Given the description of an element on the screen output the (x, y) to click on. 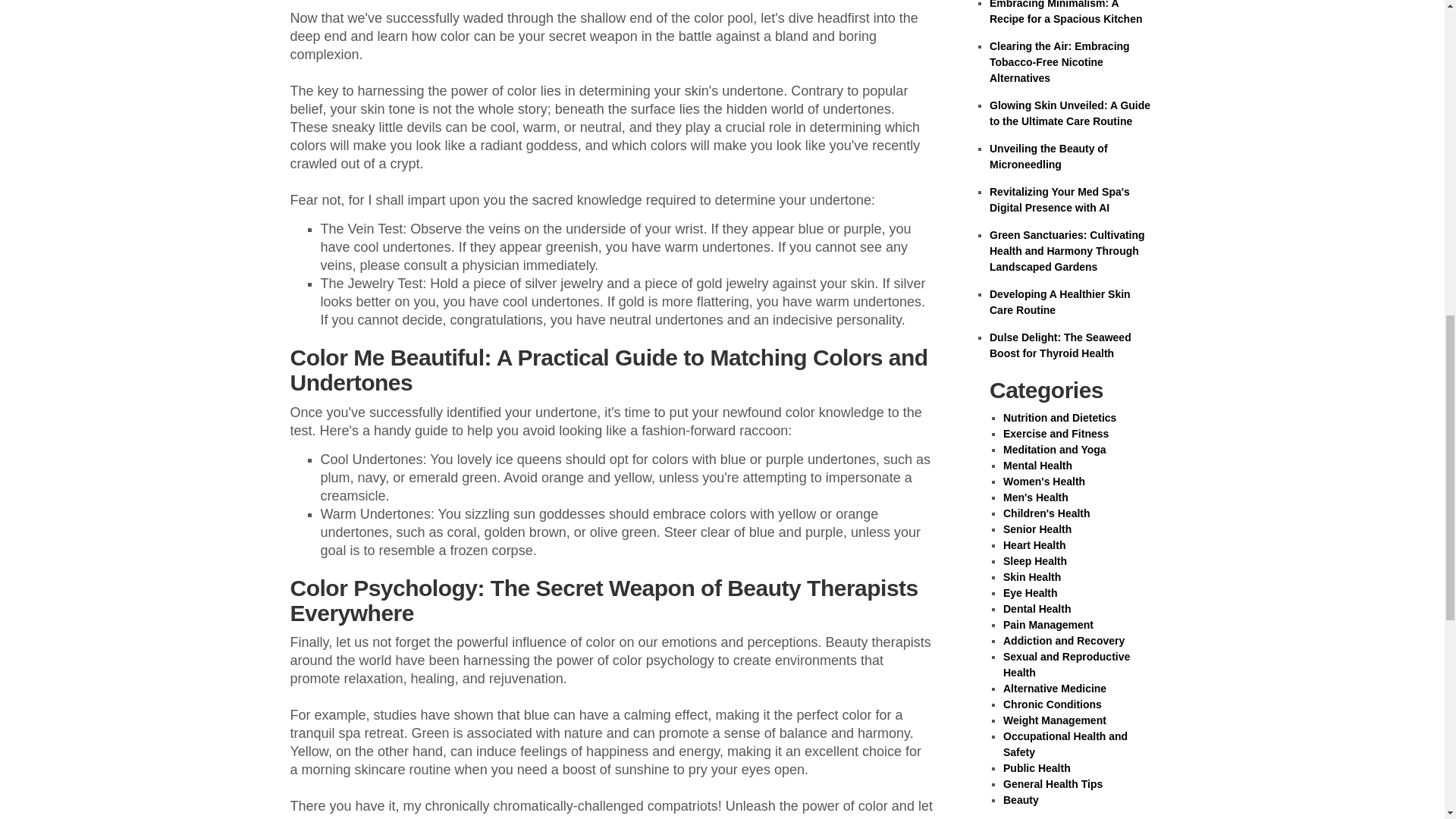
Meditation and Yoga (1054, 449)
Mental Health (1037, 465)
Exercise and Fitness (1055, 433)
Dulse Delight: The Seaweed Boost for Thyroid Health (1060, 345)
Developing A Healthier Skin Care Routine (1060, 302)
Unveiling the Beauty of Microneedling (1049, 156)
Women's Health (1043, 481)
Embracing Minimalism: A Recipe for a Spacious Kitchen (1066, 12)
Revitalizing Your Med Spa's Digital Presence with AI (1059, 199)
Men's Health (1035, 497)
Children's Health (1046, 512)
Senior Health (1037, 529)
Sleep Health (1035, 561)
